Given the description of an element on the screen output the (x, y) to click on. 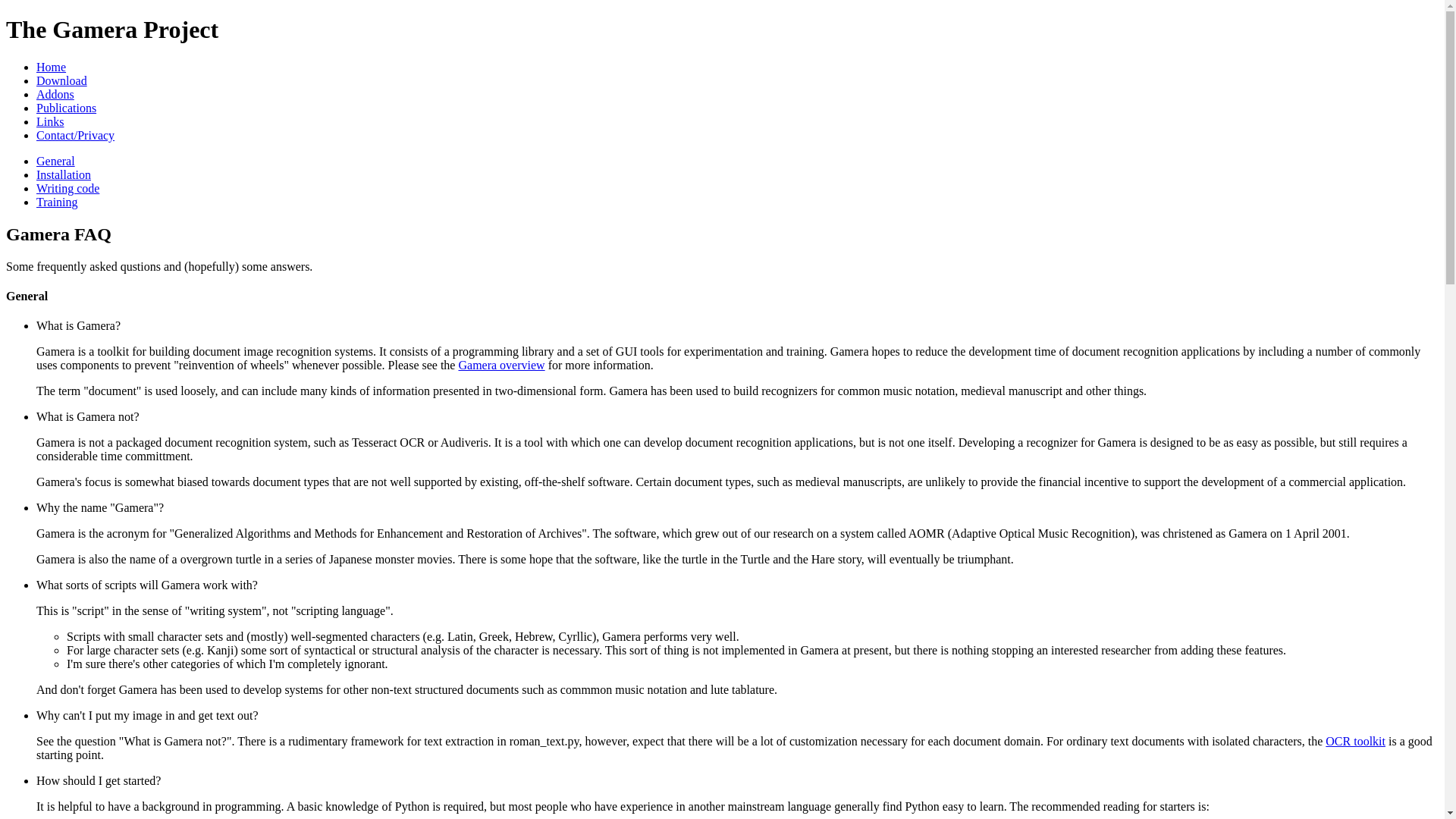
Home (50, 66)
Writing code (67, 187)
General (55, 160)
Publications (66, 107)
Gamera overview (501, 364)
Installation (63, 174)
Links (50, 121)
Addons (55, 93)
Download (61, 80)
Training (57, 201)
OCR toolkit (1355, 740)
